Given the description of an element on the screen output the (x, y) to click on. 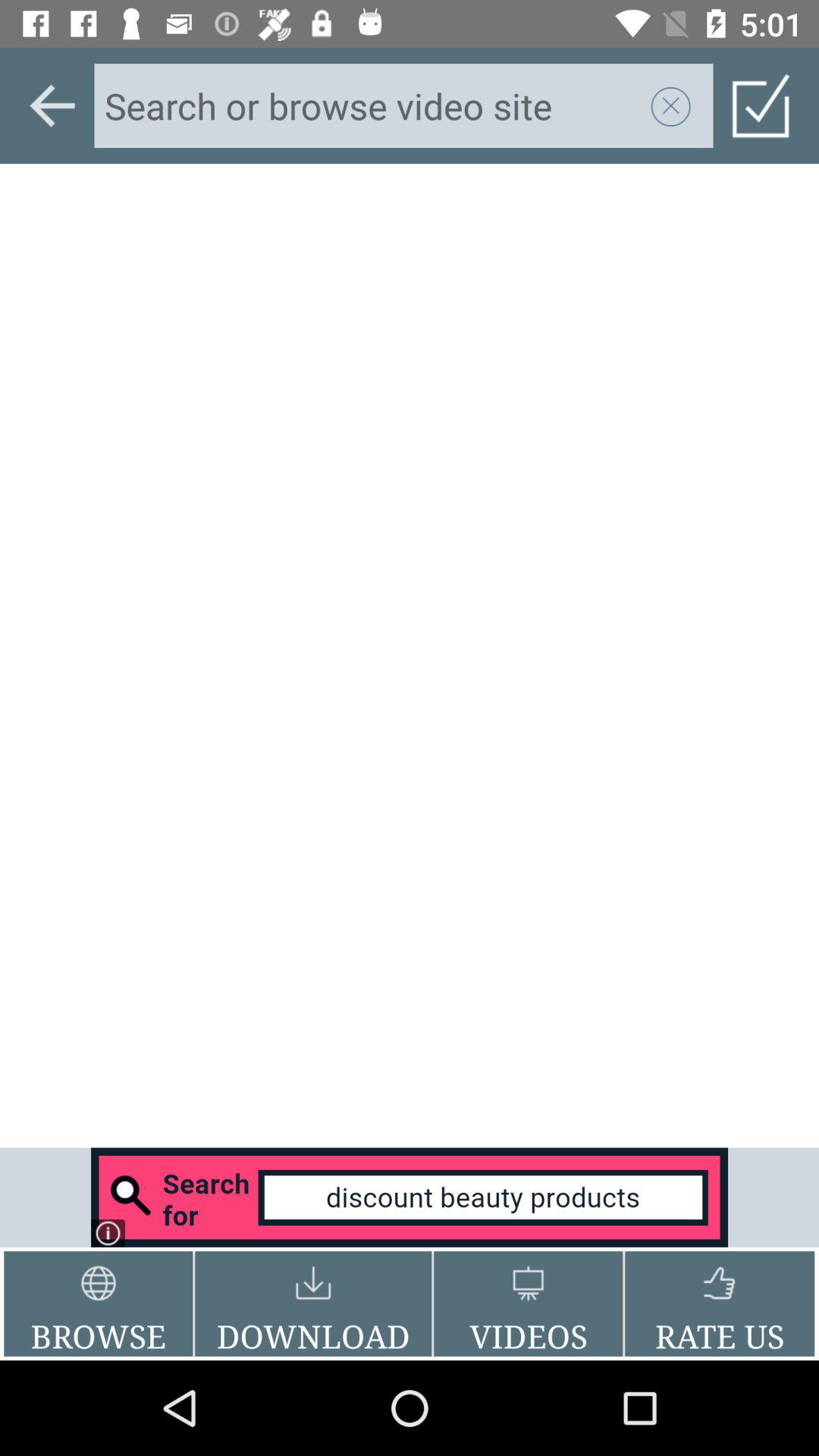
choose icon at the center (409, 655)
